Given the description of an element on the screen output the (x, y) to click on. 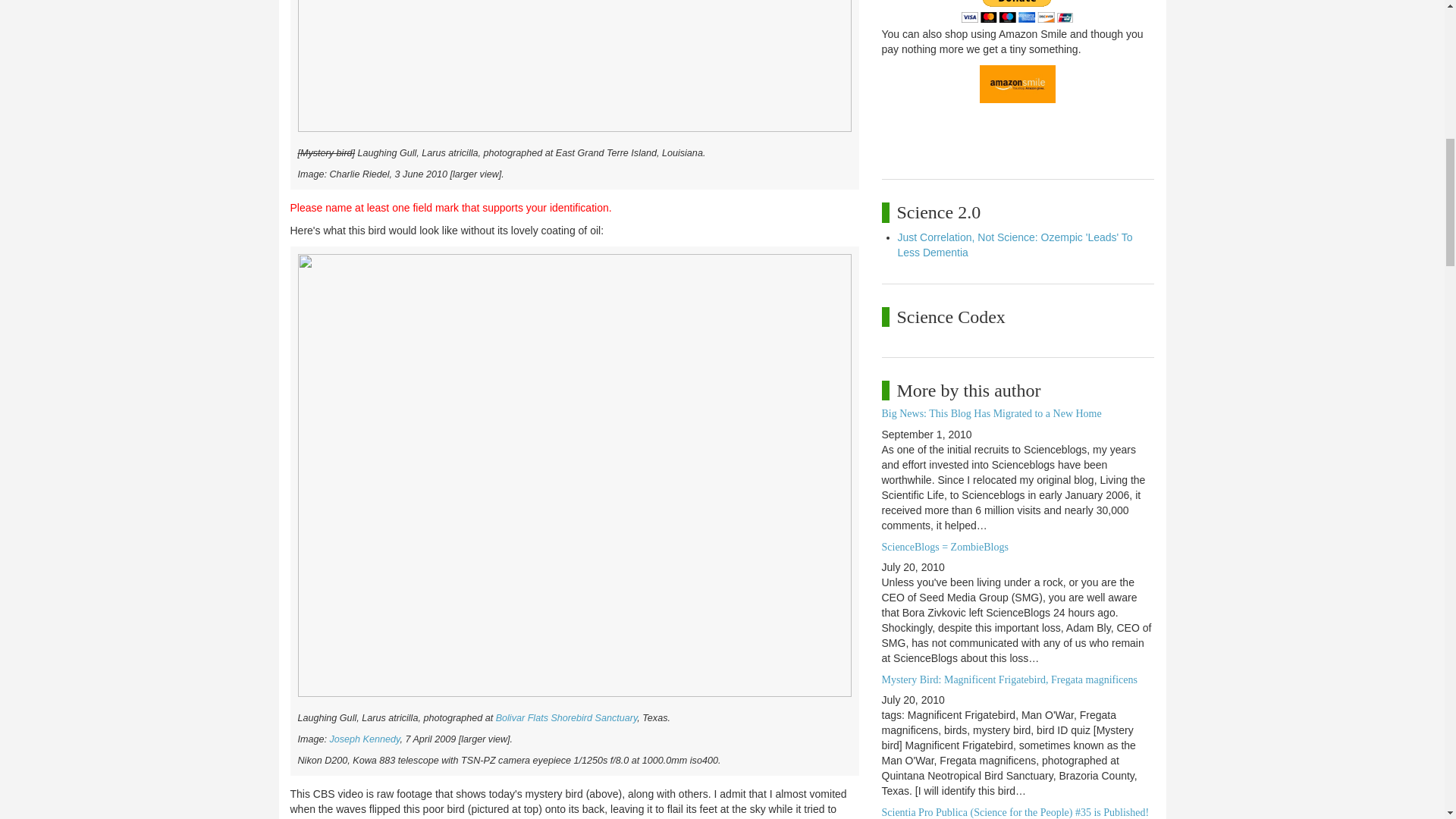
PayPal - The safer, easier way to pay online! (1016, 11)
Joseph Kennedy (363, 738)
Bolivar Flats Shorebird Sanctuary (566, 717)
